Given the description of an element on the screen output the (x, y) to click on. 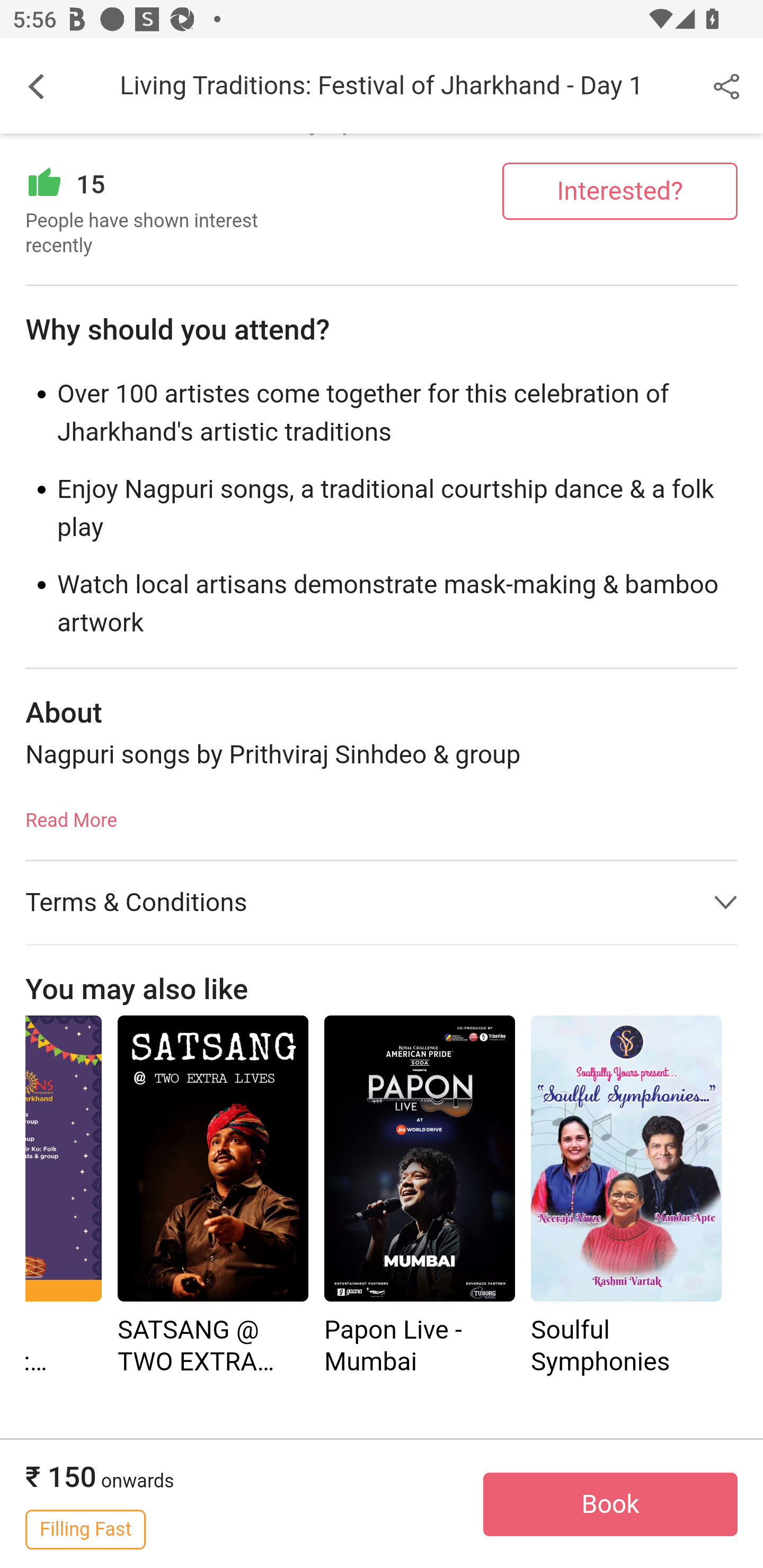
Interested? (619, 191)
Read More (71, 815)
Terms & Conditions (381, 902)
SATSANG @ TWO EXTRA LIVES (212, 1197)
SATSANG @ TWO EXTRA LIVES (212, 1159)
Papon Live - Mumbai (419, 1197)
Papon Live - Mumbai (419, 1159)
Soulful Symphonies (626, 1197)
Soulful Symphonies (626, 1159)
Book (609, 1505)
